Given the description of an element on the screen output the (x, y) to click on. 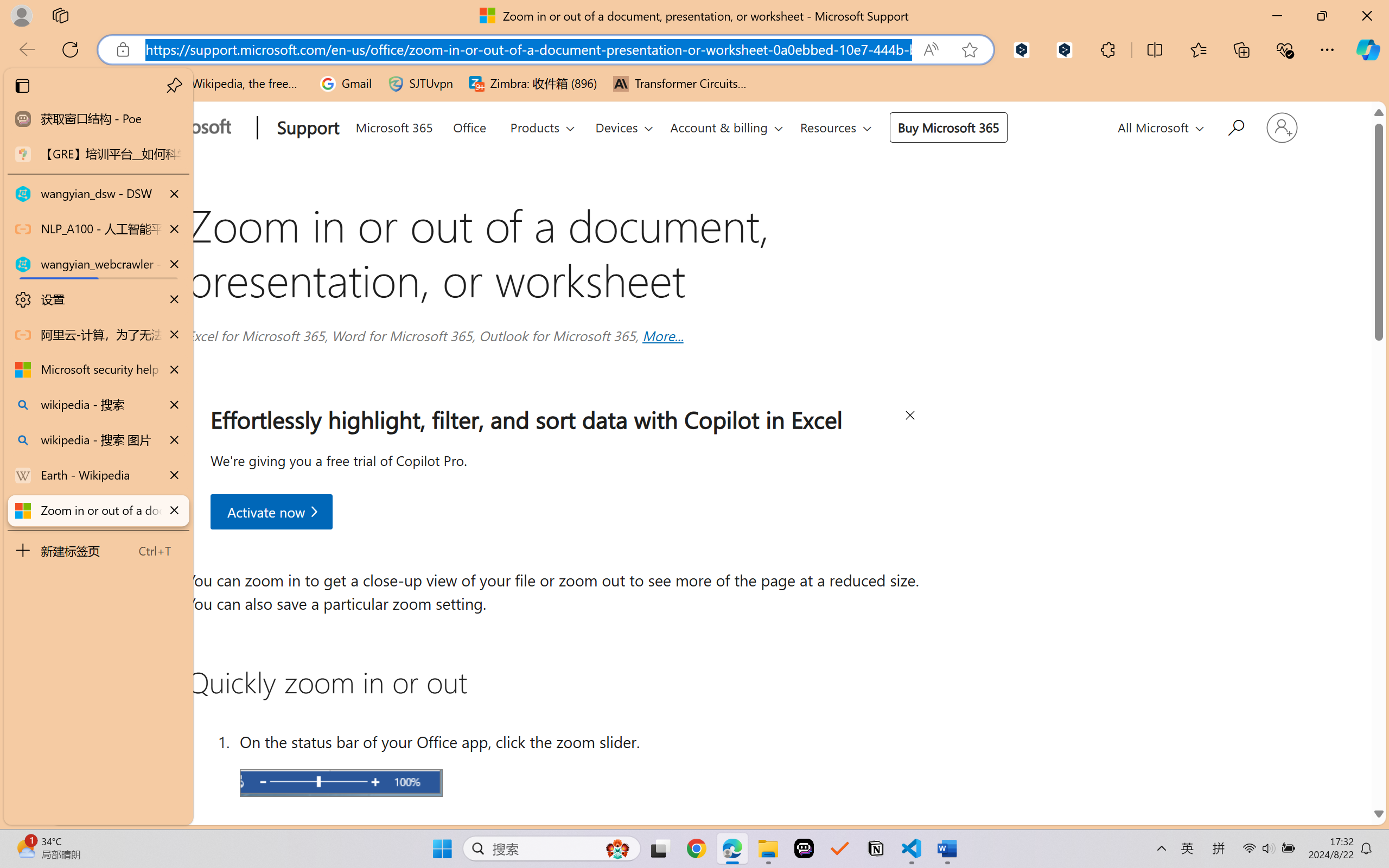
Microsoft security help and learning (97, 369)
Transformer Circuits Thread (680, 83)
Microsoft 365 (394, 125)
Copilot (Ctrl+Shift+.) (1368, 49)
